Given the description of an element on the screen output the (x, y) to click on. 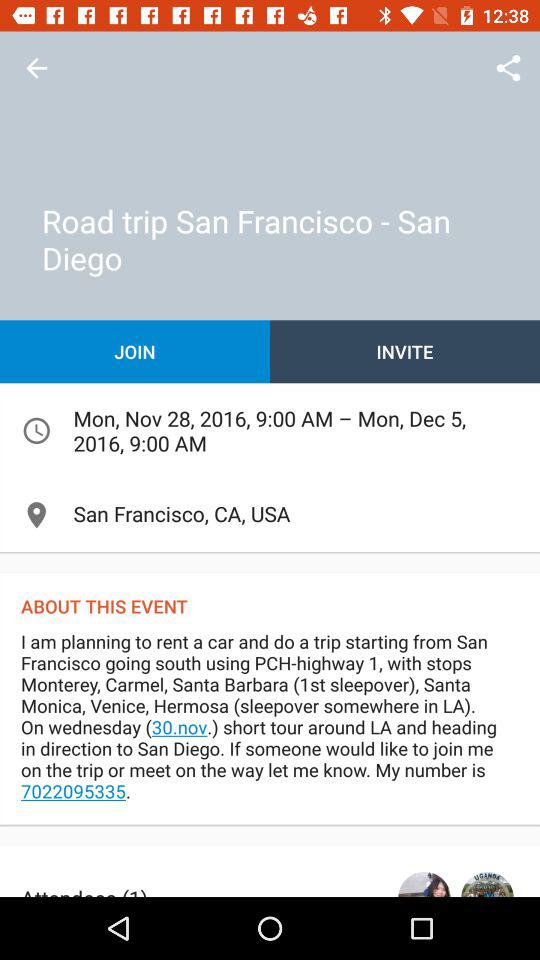
turn on item on the right (405, 351)
